Given the description of an element on the screen output the (x, y) to click on. 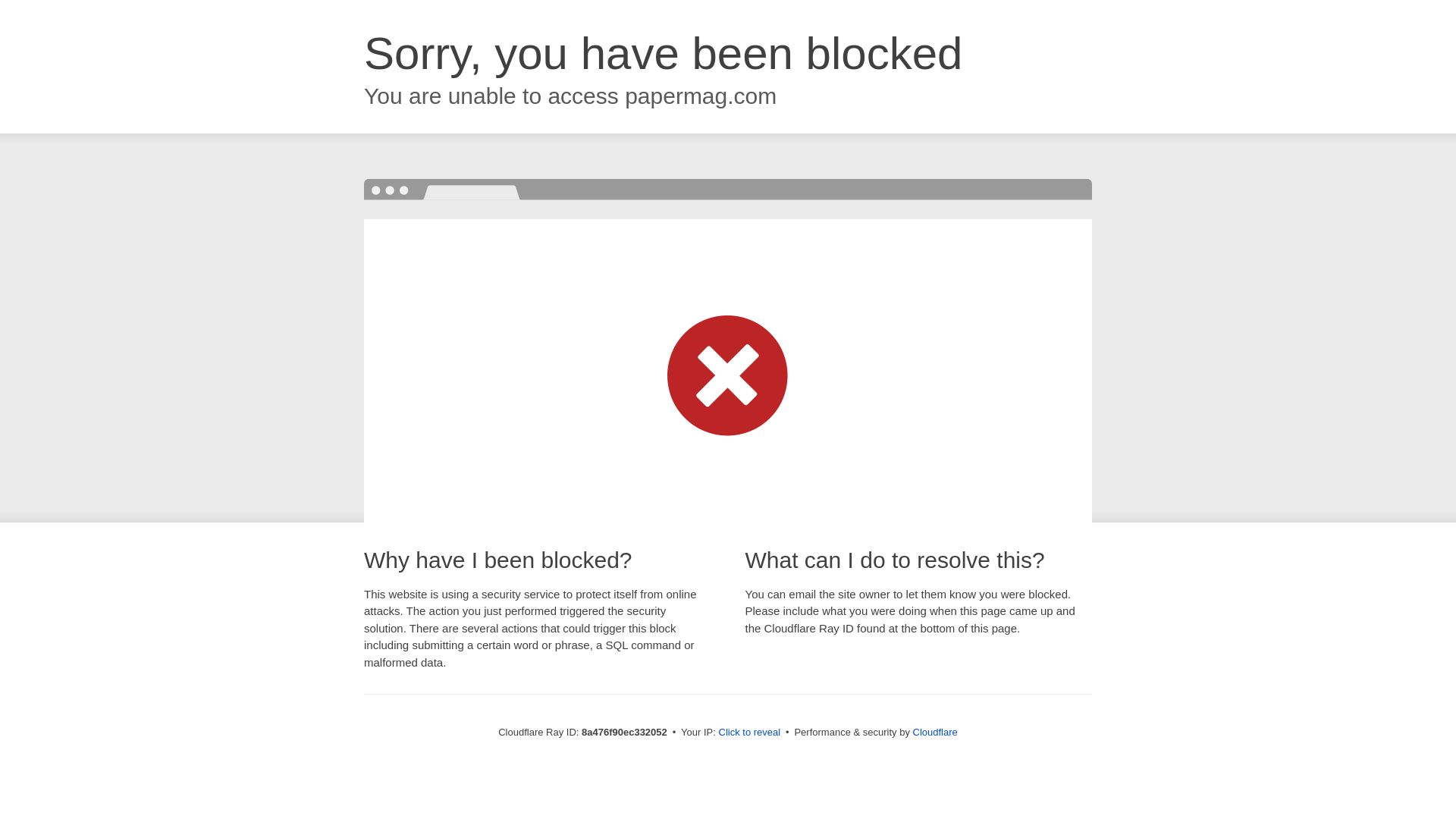
Cloudflare (935, 731)
Click to reveal (749, 732)
